Given the description of an element on the screen output the (x, y) to click on. 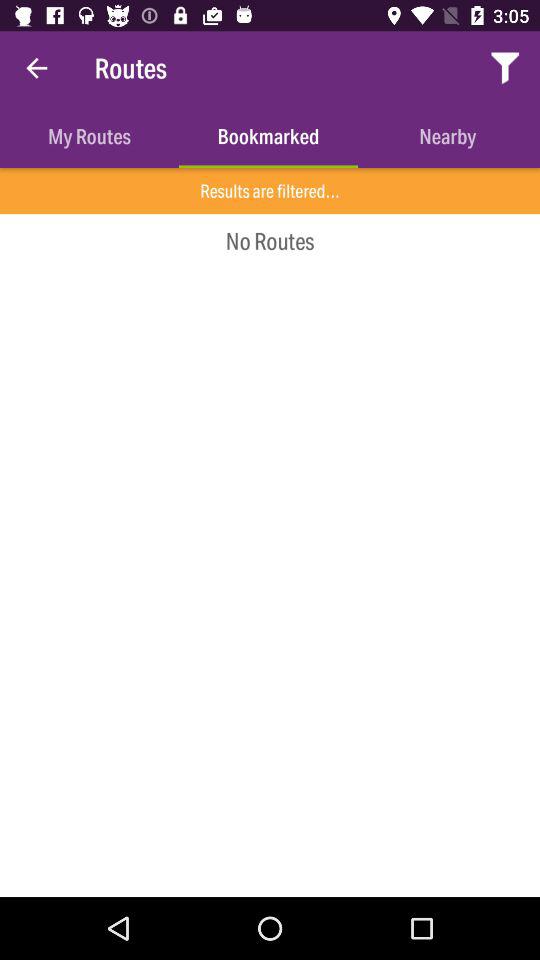
launch the item to the left of the routes icon (36, 68)
